Given the description of an element on the screen output the (x, y) to click on. 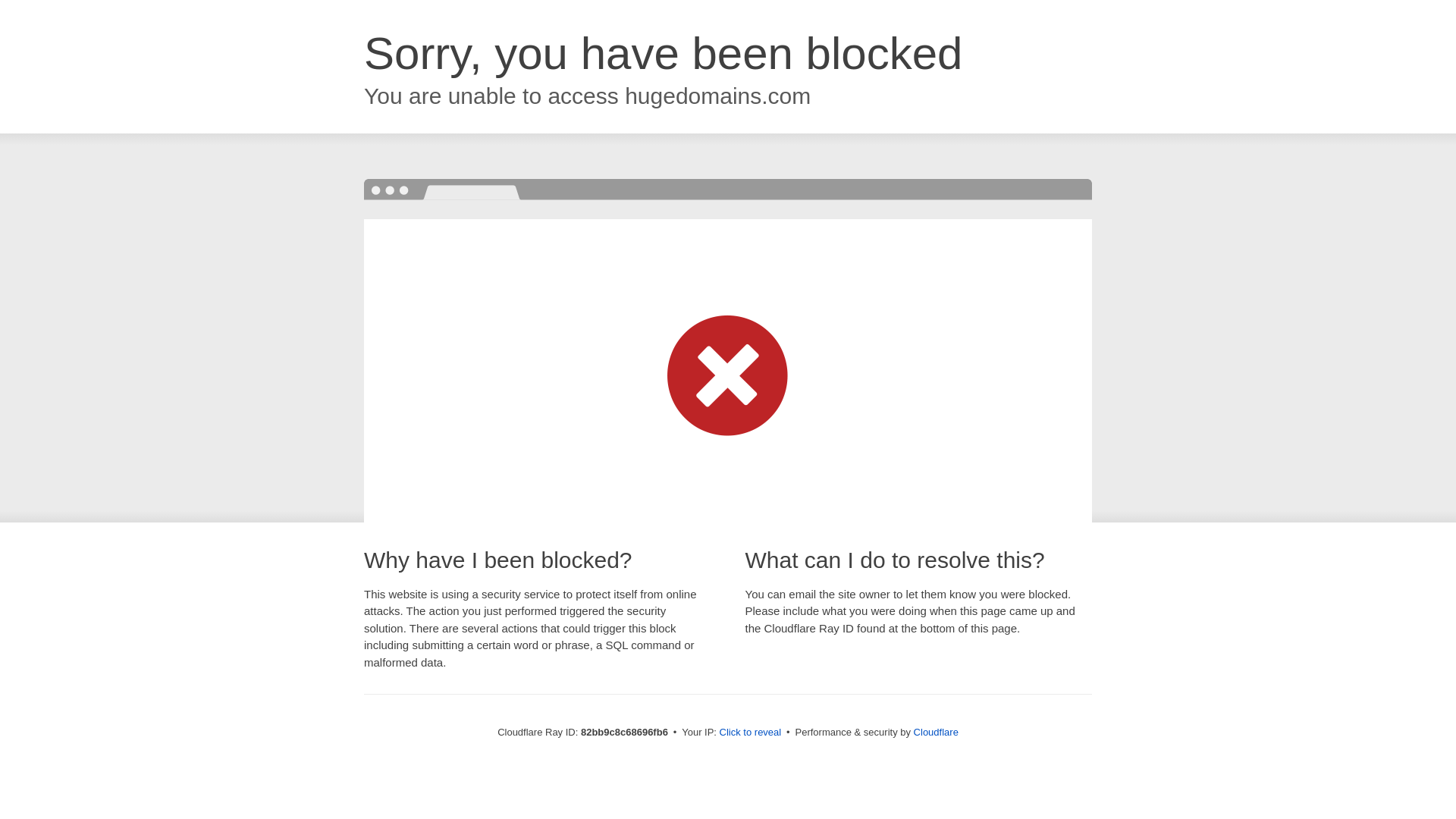
Click to reveal Element type: text (750, 732)
Cloudflare Element type: text (935, 731)
